Given the description of an element on the screen output the (x, y) to click on. 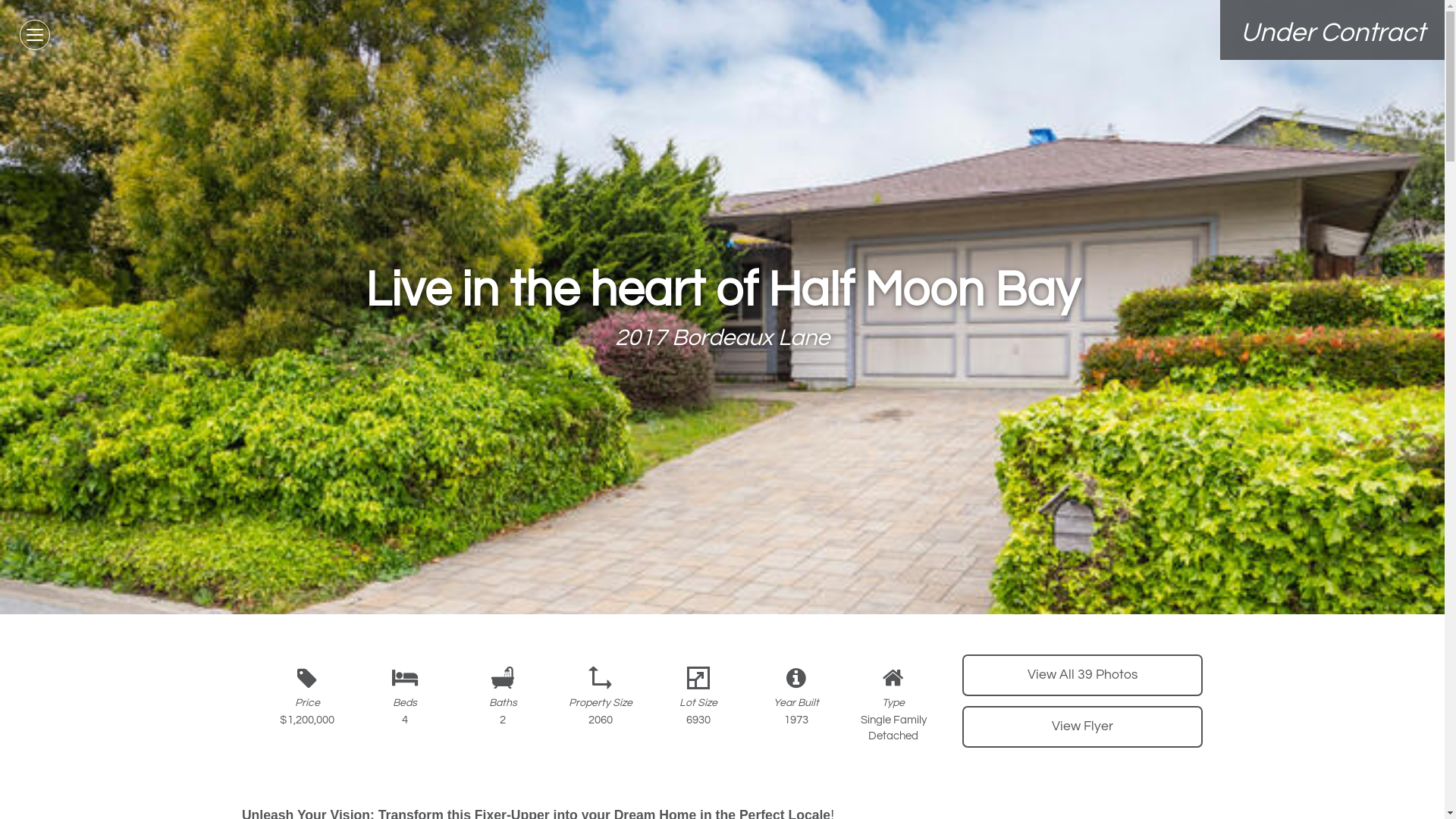
View Flyer Element type: text (1082, 726)
